Given the description of an element on the screen output the (x, y) to click on. 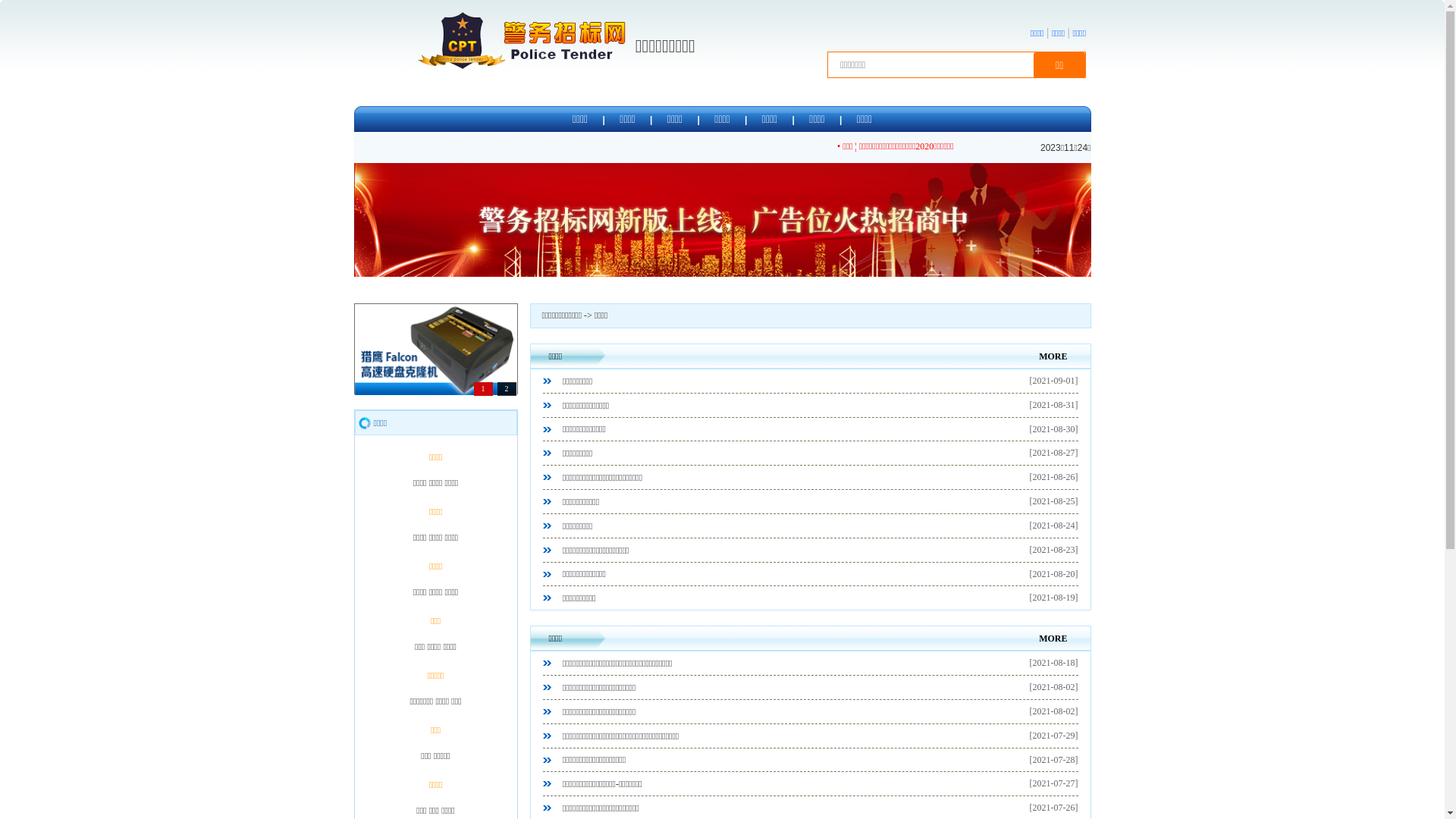
MORE Element type: text (1052, 356)
MORE Element type: text (1052, 638)
